Given the description of an element on the screen output the (x, y) to click on. 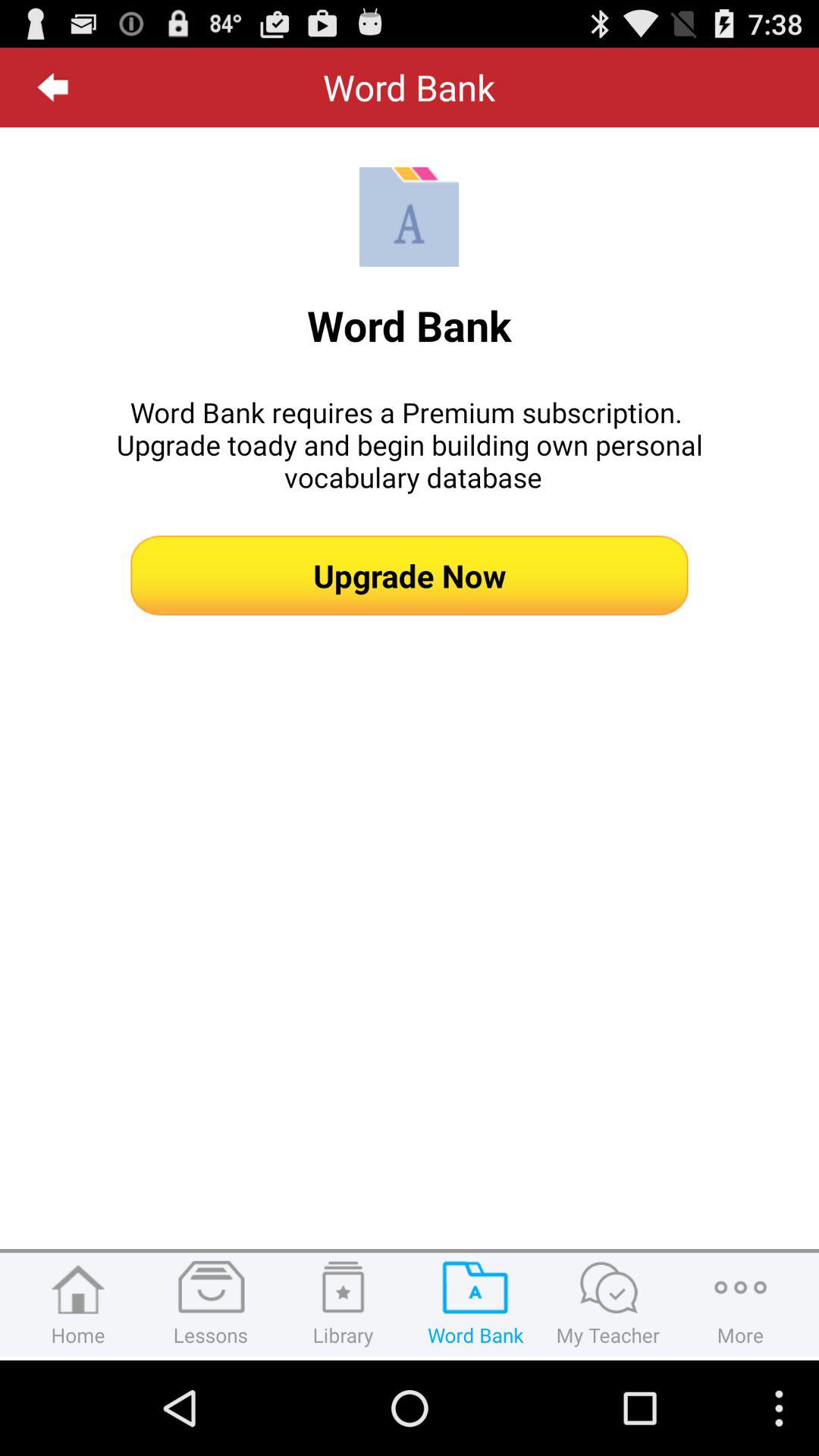
click item below the word bank requires (409, 575)
